Given the description of an element on the screen output the (x, y) to click on. 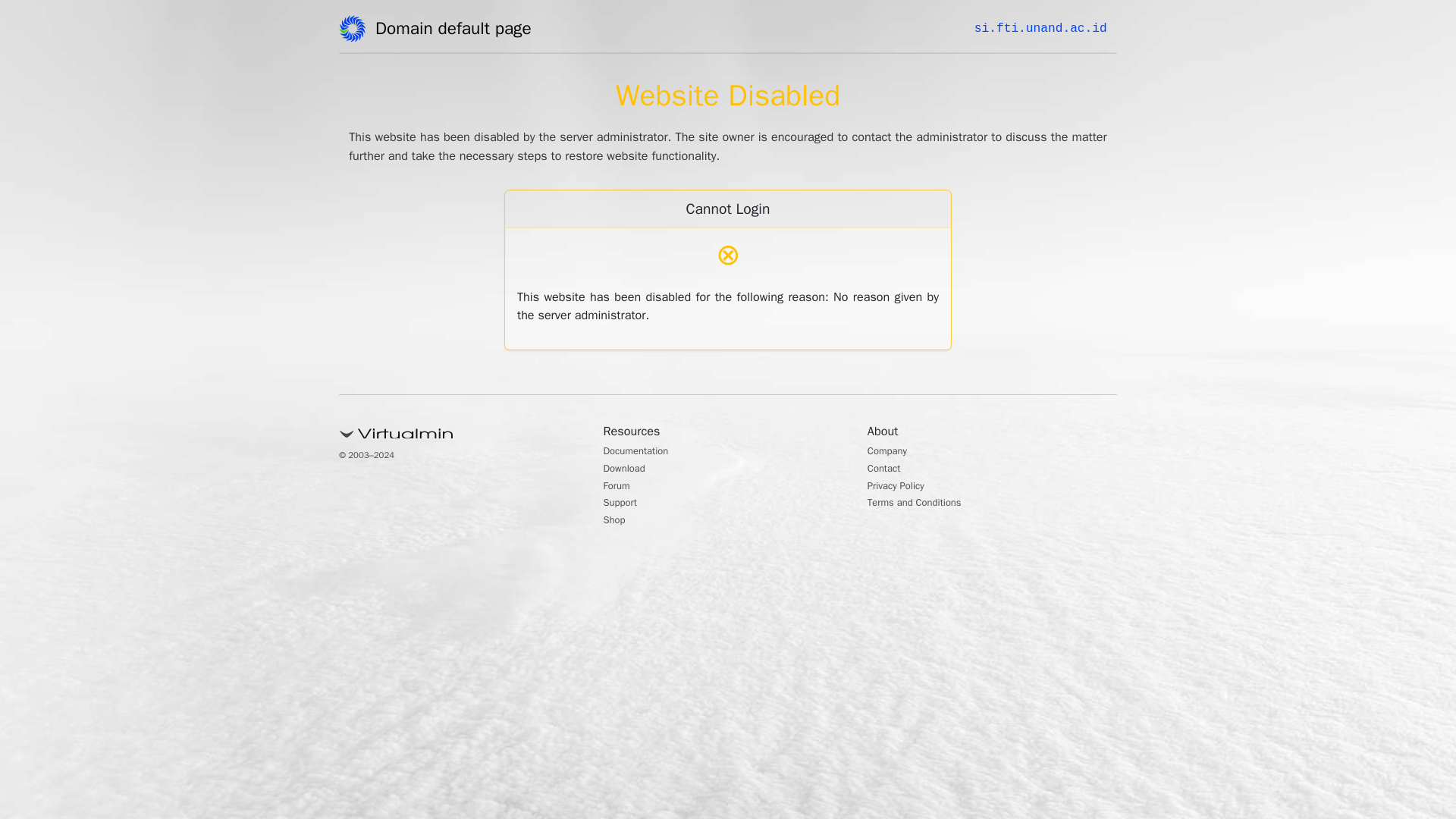
Privacy Policy (902, 487)
Forum (620, 487)
Shop (617, 521)
Terms and Conditions (925, 503)
Company (891, 452)
Support (624, 503)
Documentation (644, 452)
Download (629, 469)
Contact (887, 469)
Domain default page (457, 31)
